Given the description of an element on the screen output the (x, y) to click on. 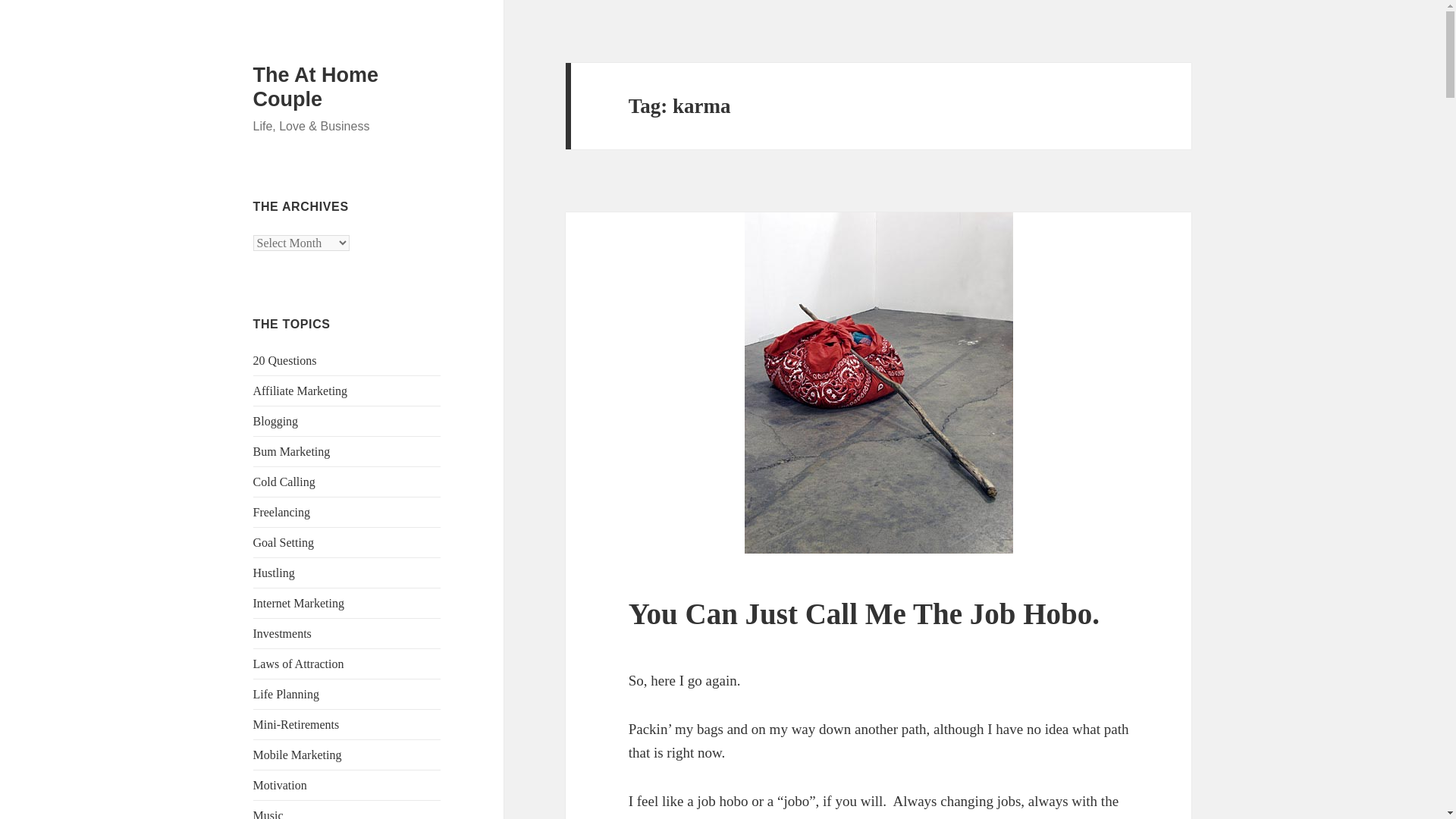
Bum Marketing (291, 451)
Hustling (274, 572)
Freelancing (282, 512)
Mobile Marketing (297, 754)
Mini-Retirements (296, 724)
Goal Setting (283, 542)
Music (268, 814)
The At Home Couple (315, 86)
Life Planning (286, 694)
Laws of Attraction (298, 663)
Cold Calling (284, 481)
You Can Just Call Me The Job Hobo. (863, 613)
Investments (282, 633)
Blogging (275, 420)
20 Questions (285, 359)
